Given the description of an element on the screen output the (x, y) to click on. 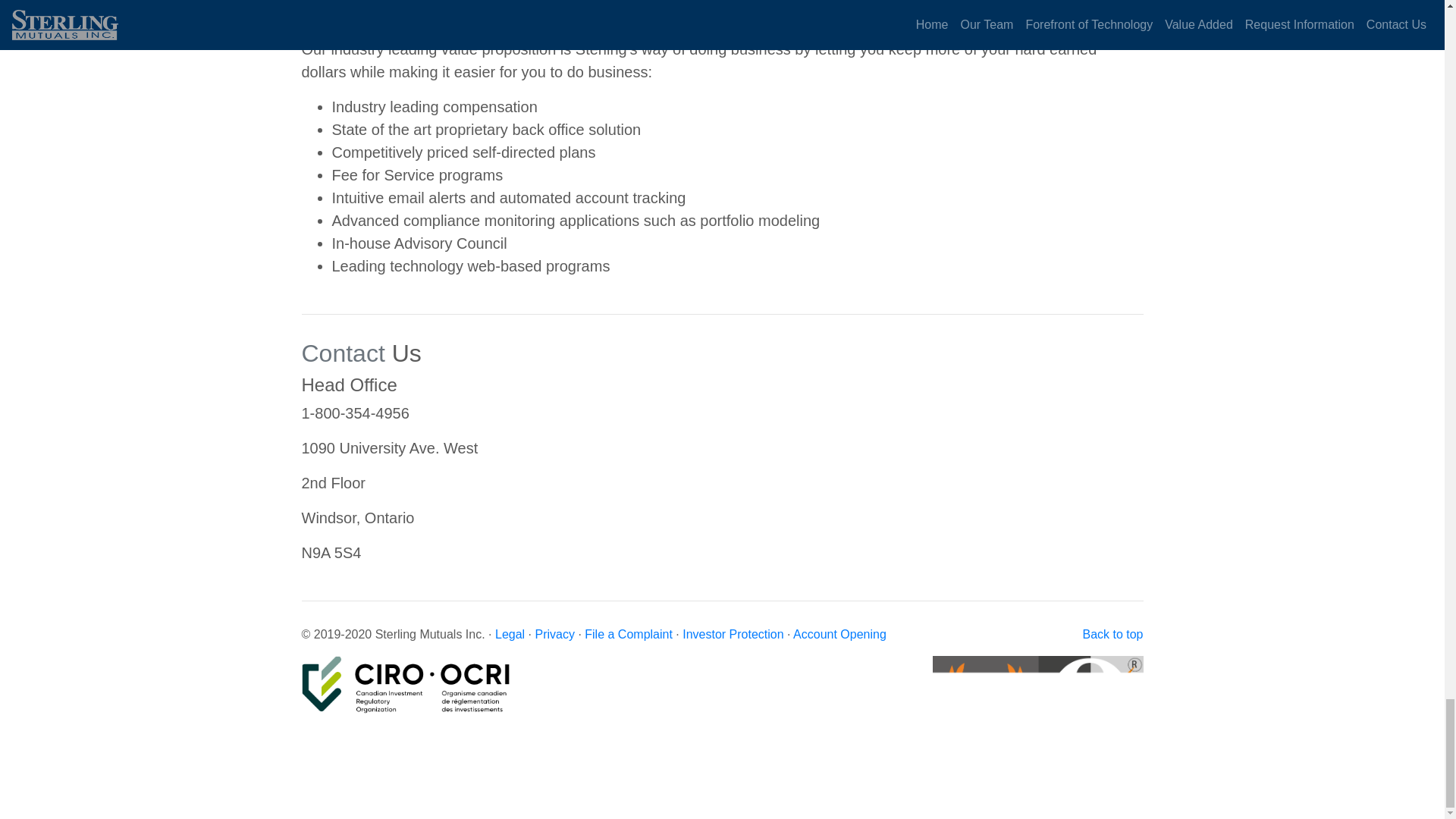
Account Opening (839, 634)
Legal (509, 634)
Back to top (1111, 634)
Privacy (553, 634)
File a Complaint (628, 634)
Investor Protection (732, 634)
